Given the description of an element on the screen output the (x, y) to click on. 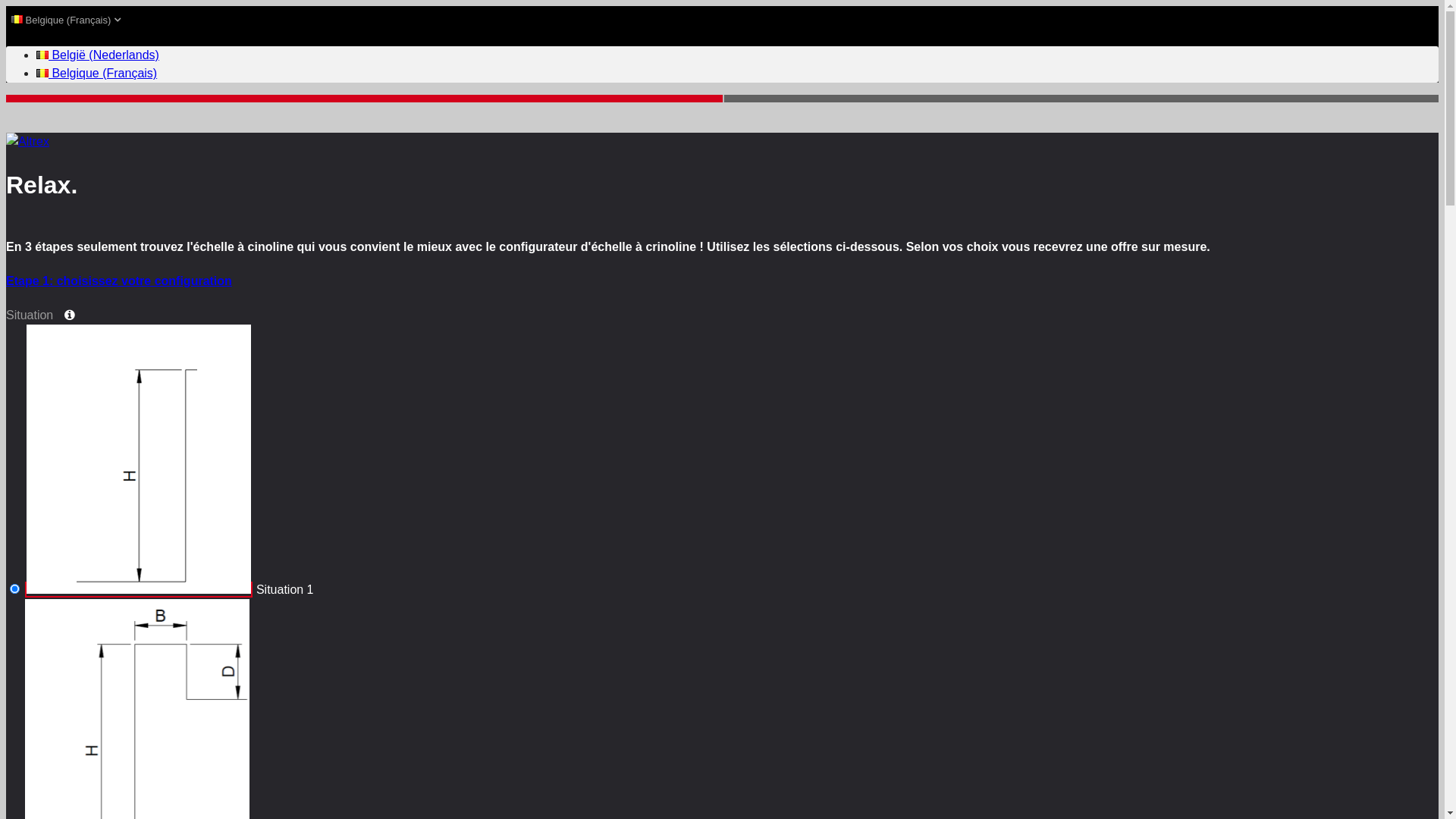
uitstapbeveleiging|uitstap op dak||Altrex - Everest| Element type: text (14, 588)
ja Element type: text (4, 4)
Etape 1: choisissez votre configuration Element type: text (722, 281)
